Given the description of an element on the screen output the (x, y) to click on. 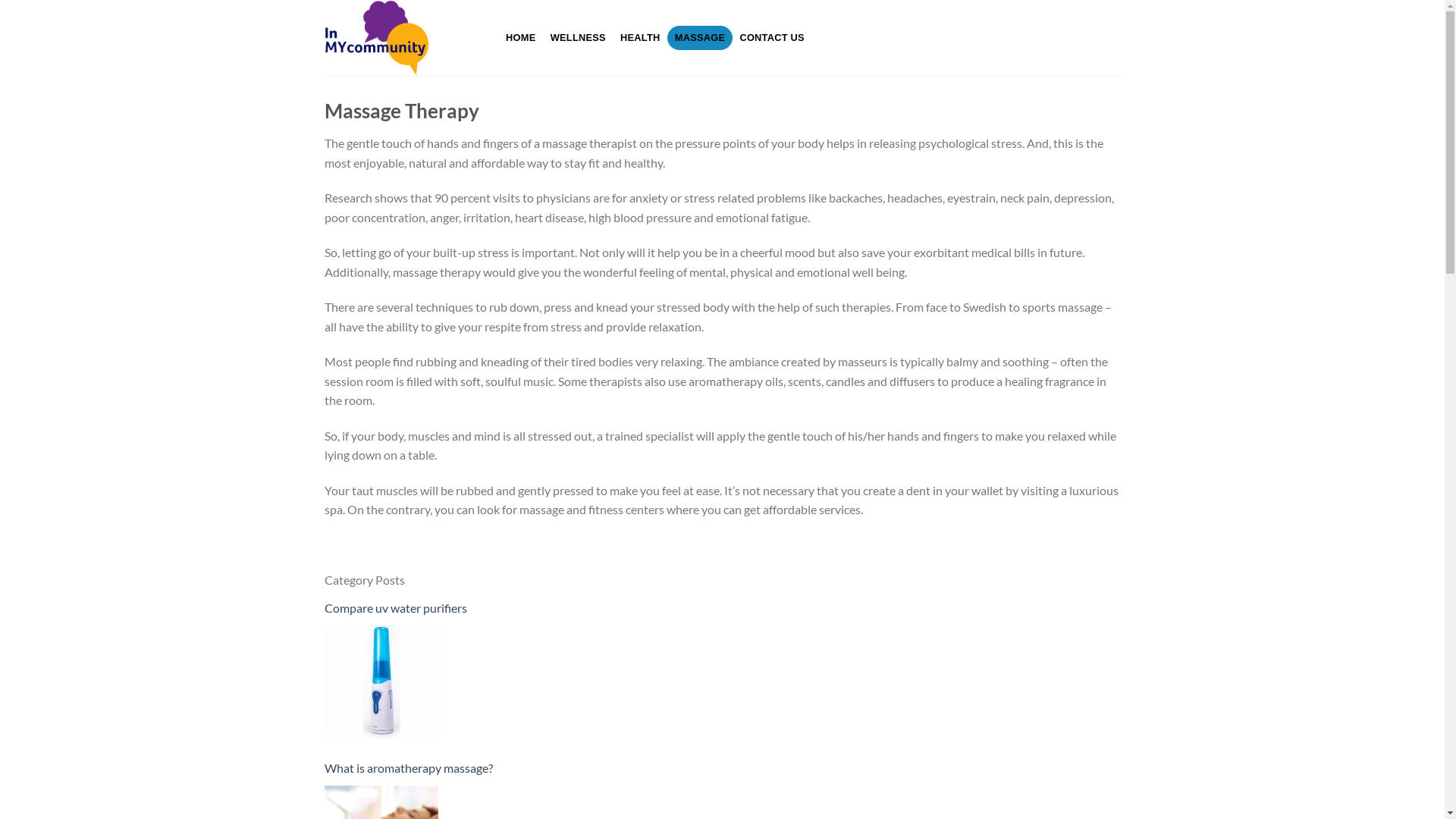
WELLNESS Element type: text (577, 37)
CONTACT US Element type: text (772, 37)
Compare uv water purifiers Element type: hover (381, 681)
Compare uv water purifiers Element type: text (722, 608)
Wellness Approach To Health Blog & Forums - Get Healthy Element type: hover (400, 37)
What is aromatherapy massage? Element type: text (722, 768)
MASSAGE Element type: text (699, 37)
HOME Element type: text (520, 37)
HEALTH Element type: text (639, 37)
